Given the description of an element on the screen output the (x, y) to click on. 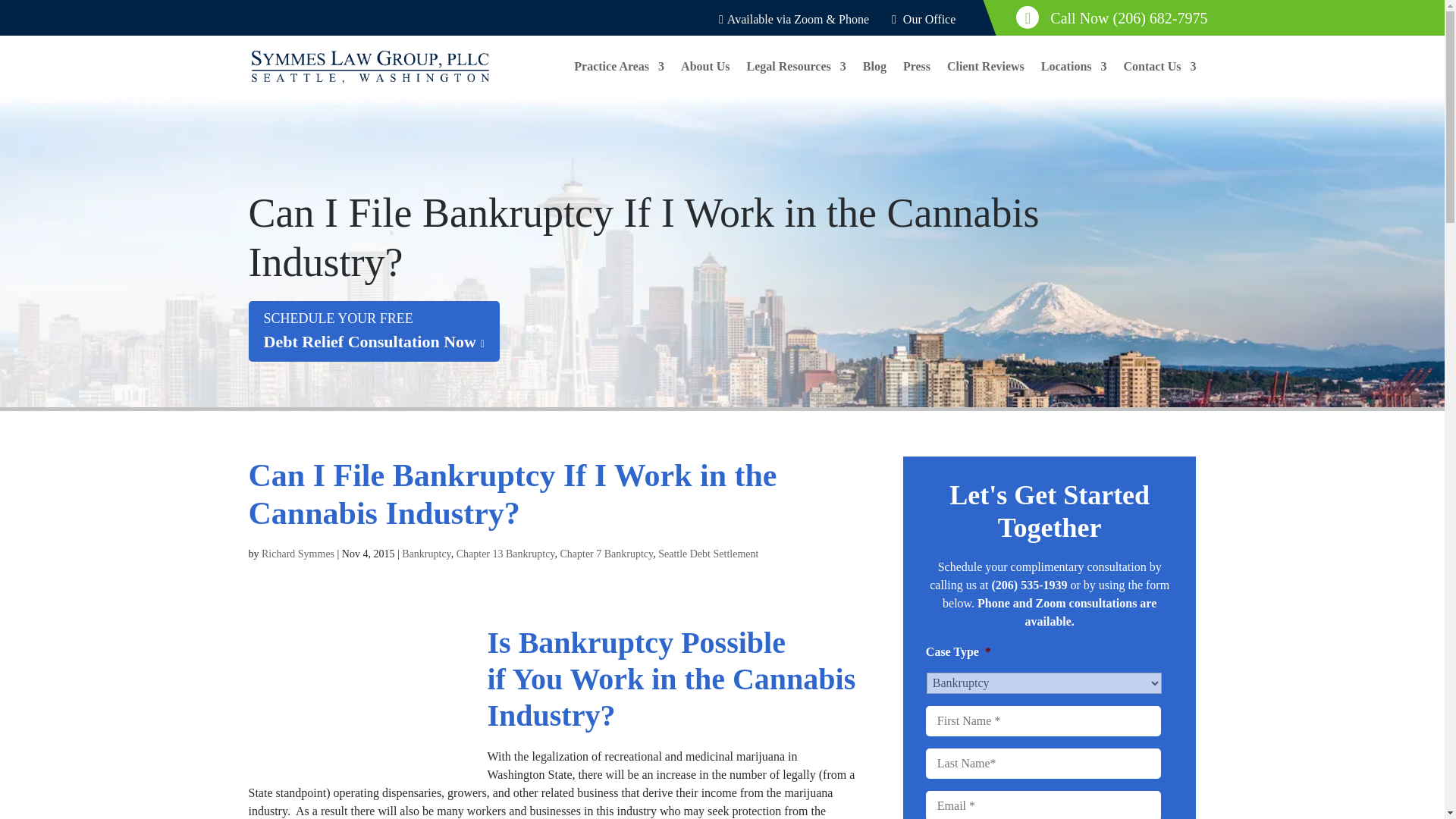
Our Office (923, 19)
Contact Us (1160, 78)
Chapter 7 Bankruptcy (605, 553)
Chapter 13 Bankruptcy (505, 553)
Legal Resources (795, 78)
Locations (1073, 78)
Seattle Debt Settlement (708, 553)
About Us (705, 78)
Posts by Richard Symmes (298, 553)
Bankruptcy (425, 553)
Richard Symmes (373, 331)
Client Reviews (298, 553)
Practice Areas (986, 78)
